Given the description of an element on the screen output the (x, y) to click on. 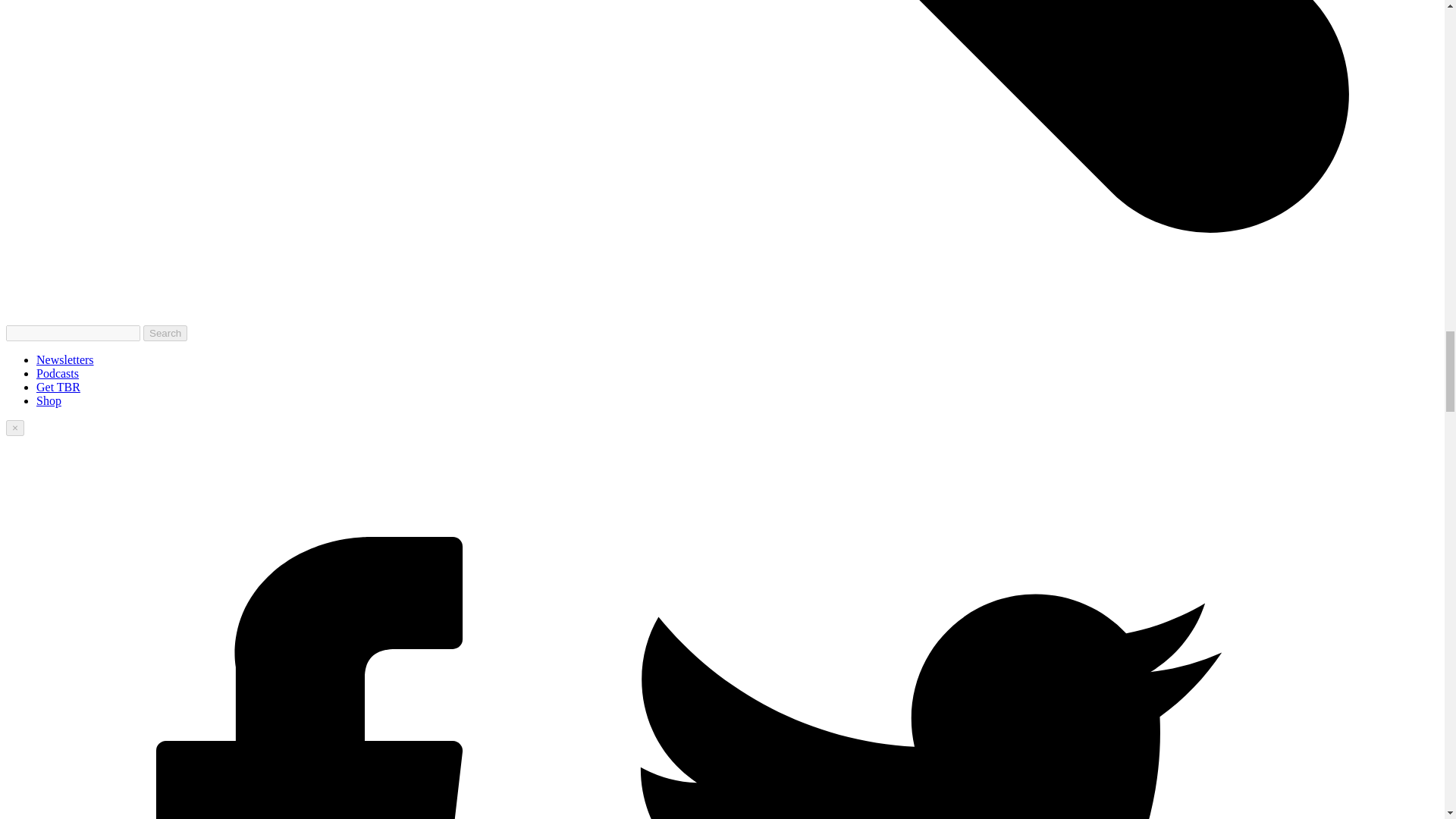
Search (164, 333)
